Given the description of an element on the screen output the (x, y) to click on. 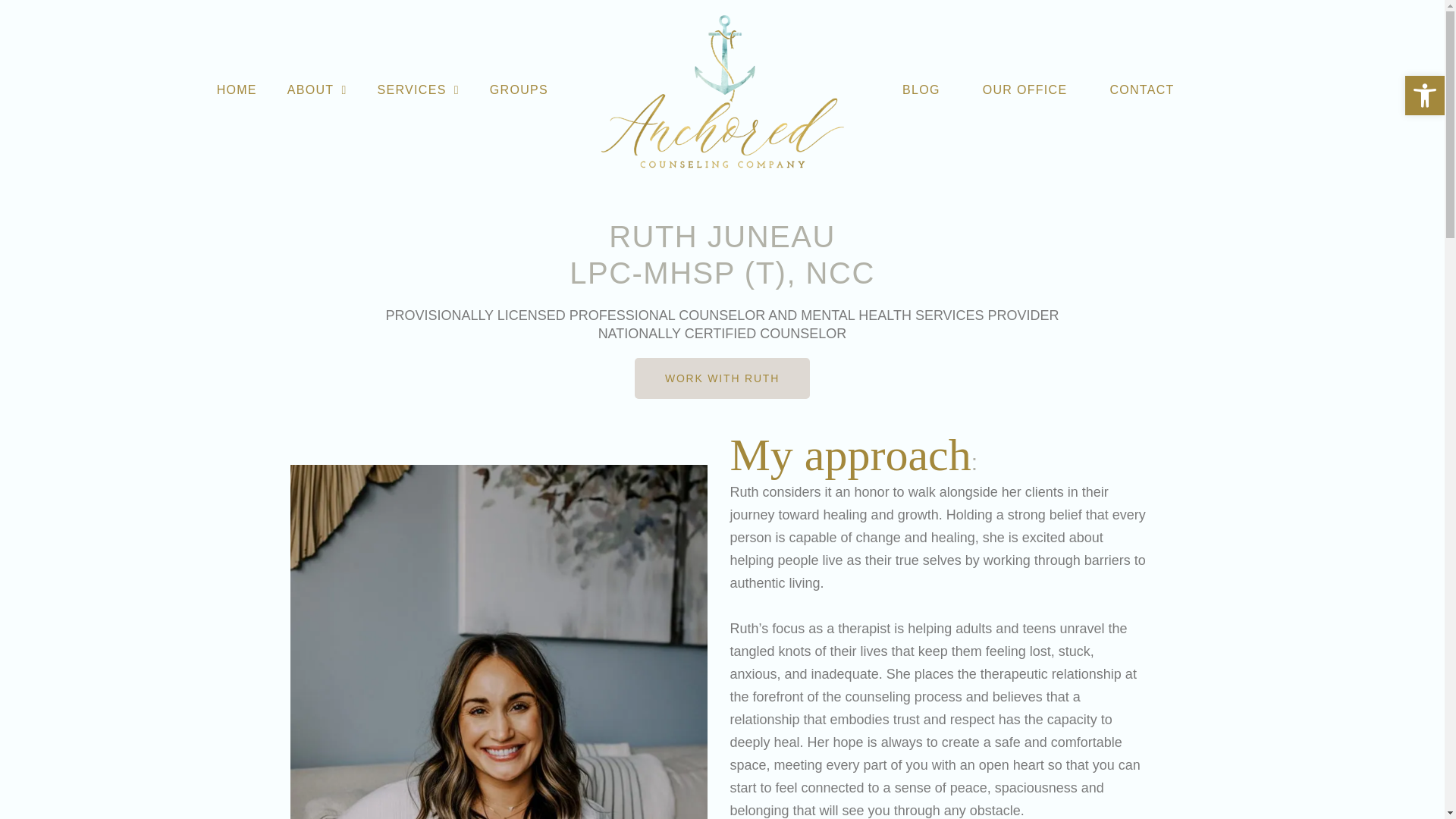
Accessibility Tools (1424, 95)
SERVICES (1424, 95)
HOME (418, 89)
Accessibility Tools (237, 89)
GROUPS (1424, 95)
ABOUT (518, 89)
